Given the description of an element on the screen output the (x, y) to click on. 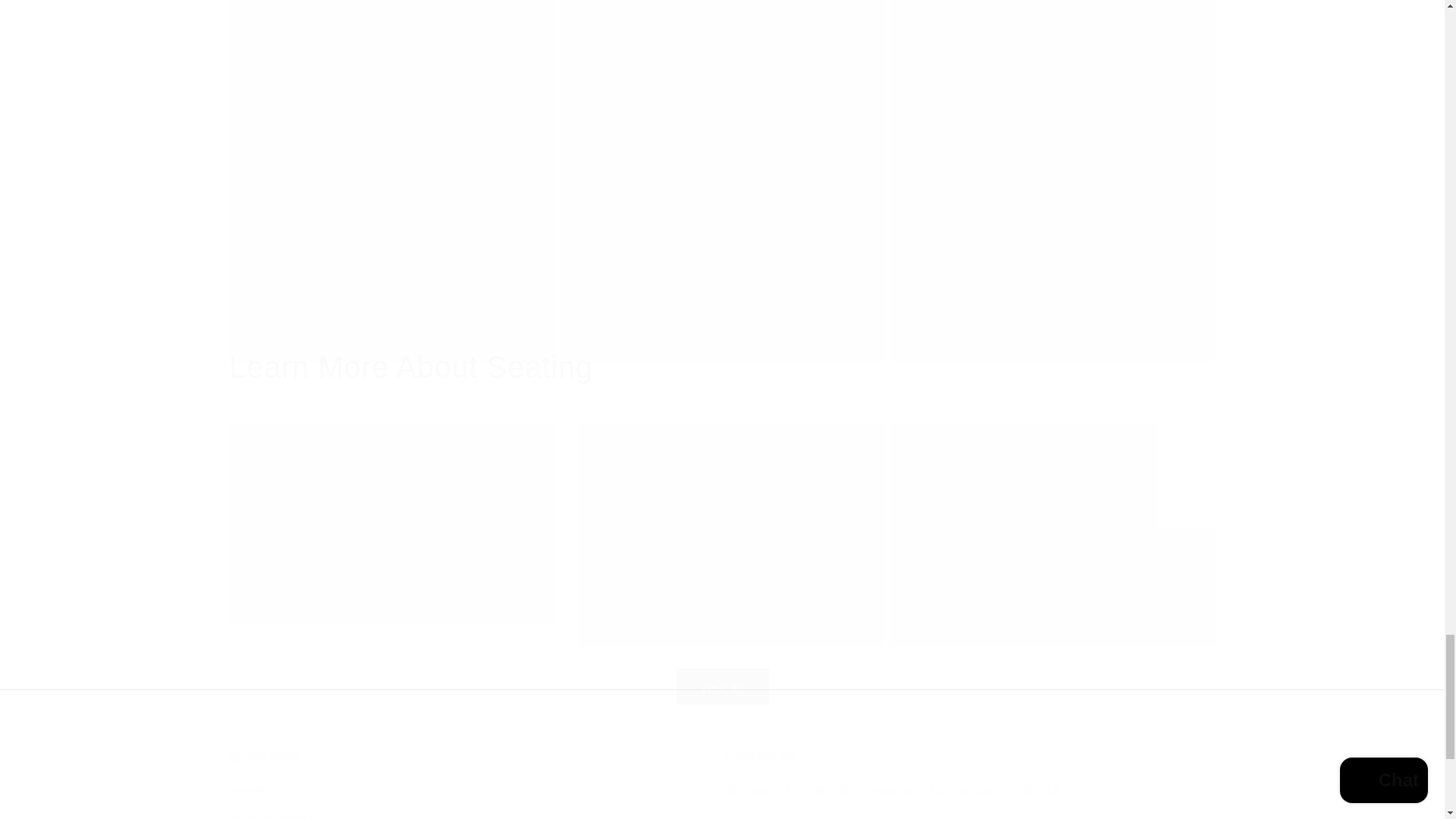
Elsa (473, 783)
Bruno Series (1051, 181)
View all (721, 181)
Learn More About Seating (721, 667)
